Given the description of an element on the screen output the (x, y) to click on. 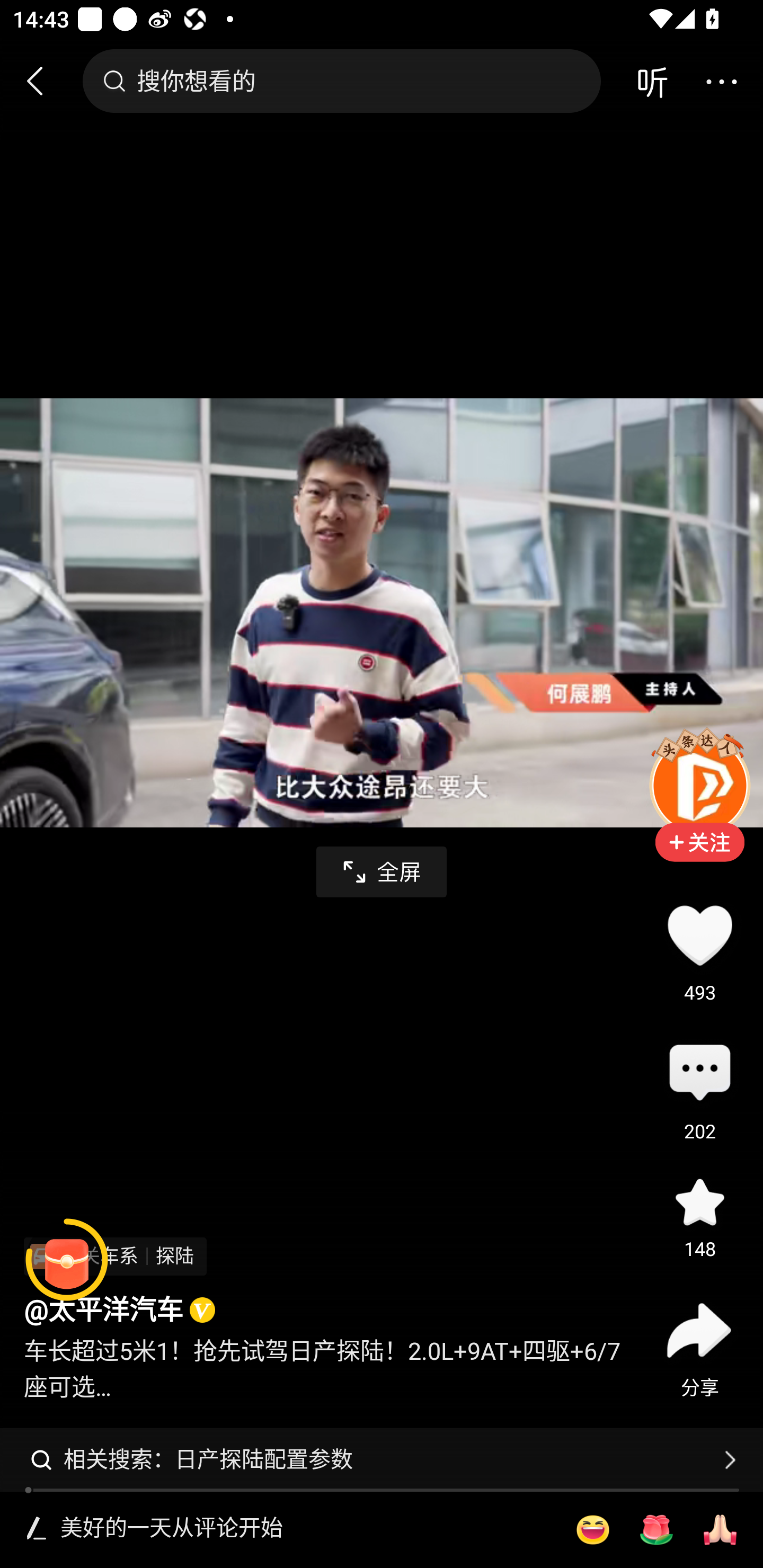
搜你想看的 搜索框，搜你想看的 (341, 80)
返回 (43, 80)
音频 (651, 80)
更多操作 (720, 80)
头像 (699, 785)
全屏播放 (381, 871)
点赞493 493 (699, 935)
评论202 评论 202 (699, 1074)
收藏 148 (699, 1201)
阅读赚金币 (66, 1259)
分享 (699, 1330)
@太平洋汽车 (103, 1310)
相关搜索：日产探陆配置参数 (381, 1459)
美好的一天从评论开始 (305, 1529)
[大笑] (592, 1530)
[玫瑰] (656, 1530)
[祈祷] (719, 1530)
